Given the description of an element on the screen output the (x, y) to click on. 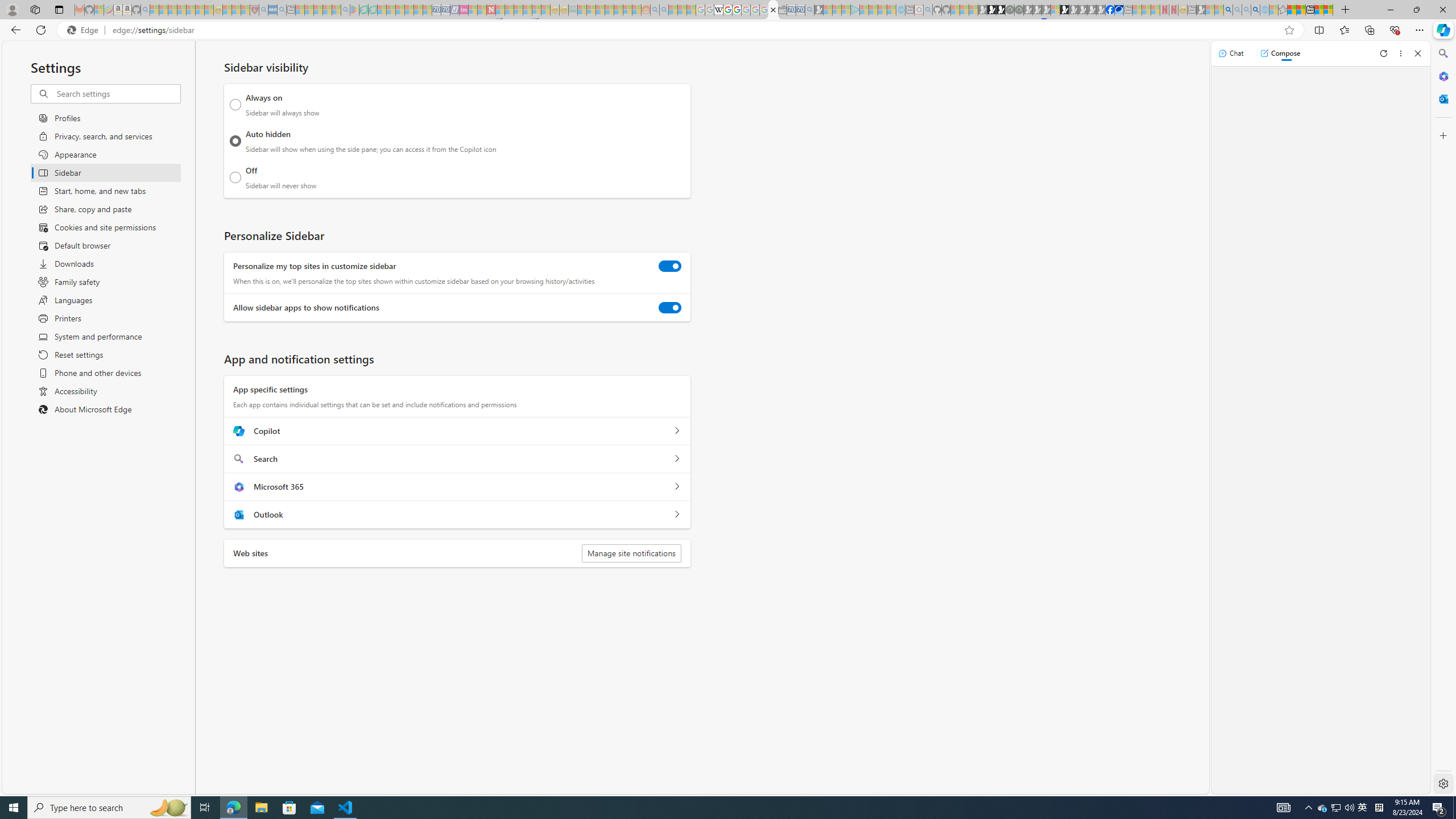
Terms of Use Agreement - Sleeping (362, 9)
github - Search - Sleeping (927, 9)
Chat (1230, 52)
Future Focus Report 2024 - Sleeping (1018, 9)
Favorites - Sleeping (1283, 9)
